Given the description of an element on the screen output the (x, y) to click on. 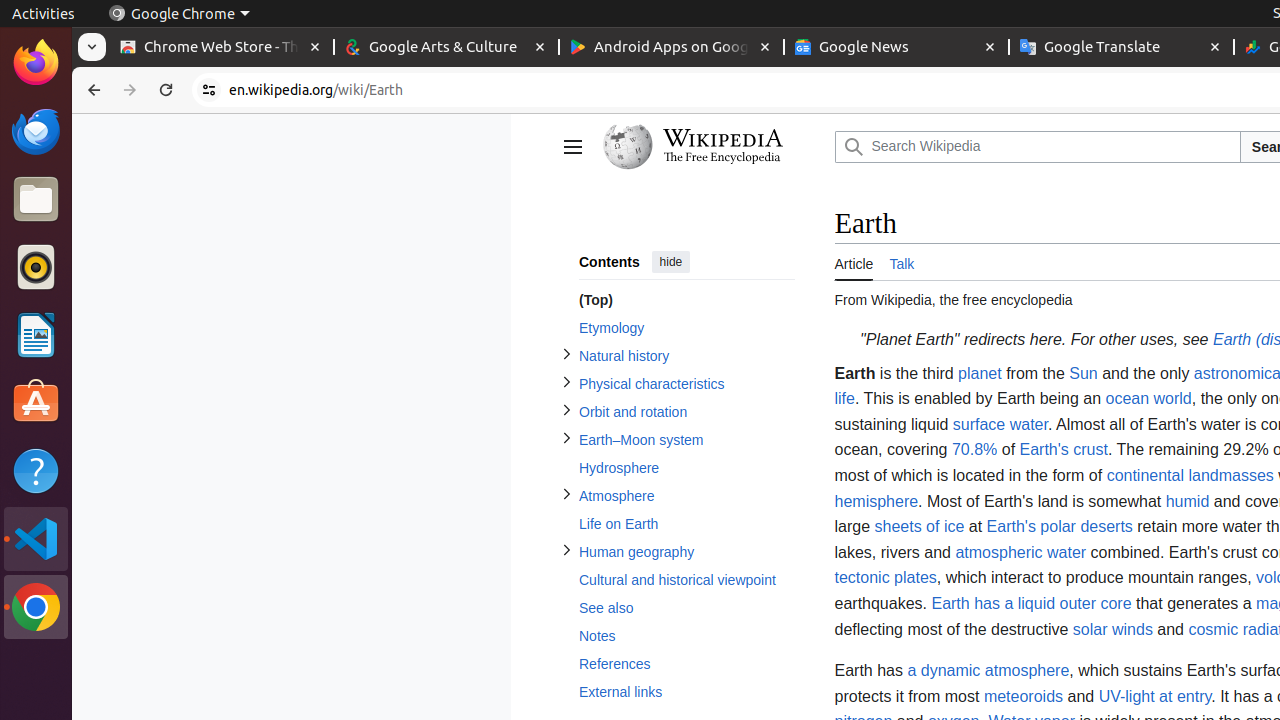
meteoroids Element type: link (1023, 696)
hide Element type: push-button (670, 261)
planet Element type: link (980, 373)
tectonic plates Element type: link (885, 578)
Earth–Moon system Element type: link (686, 440)
